Given the description of an element on the screen output the (x, y) to click on. 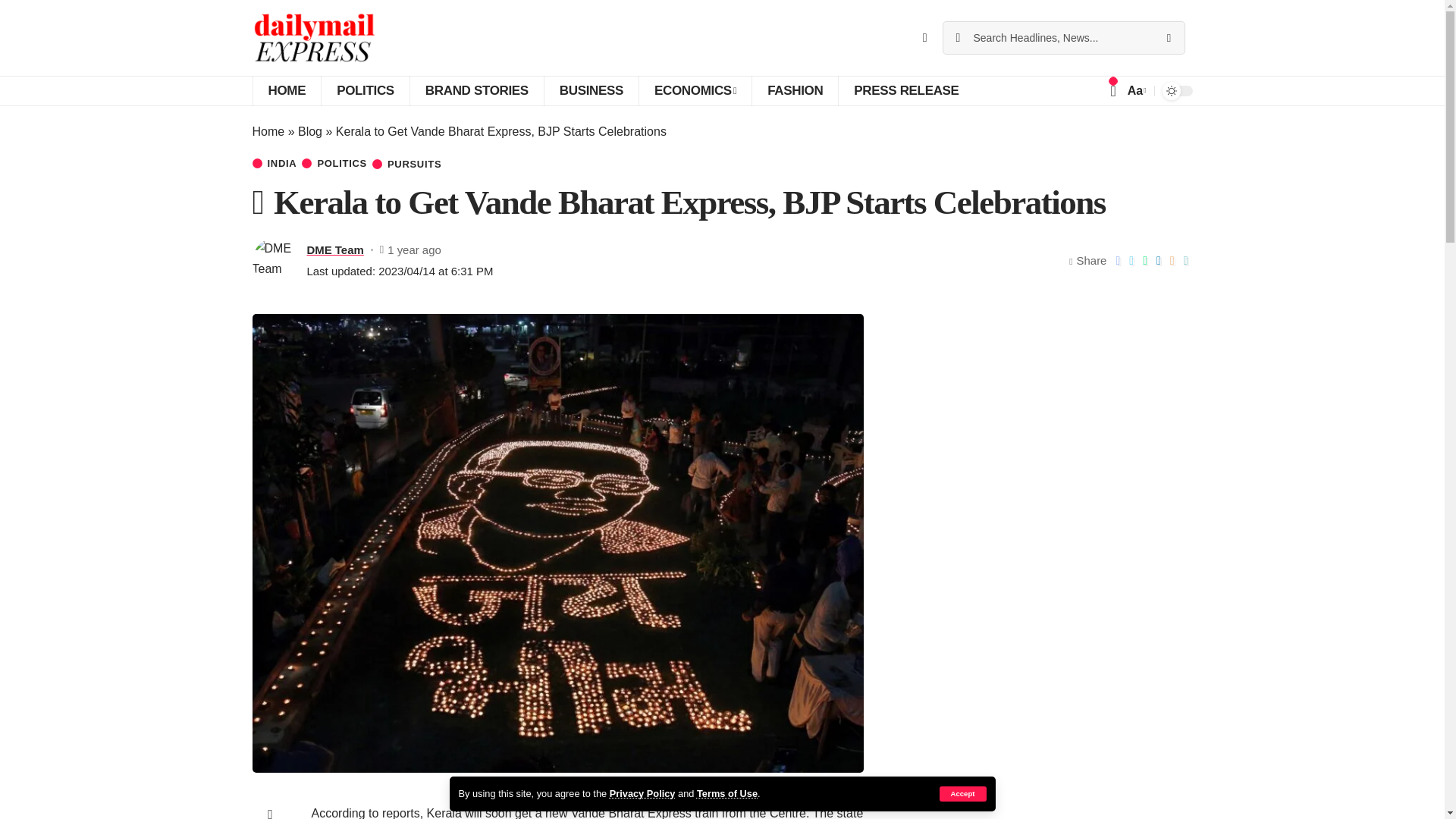
ECONOMICS (695, 91)
HOME (285, 91)
Aa (1135, 90)
FASHION (794, 91)
POLITICS (364, 91)
BUSINESS (591, 91)
Privacy Policy (642, 793)
Daily Mail Express (313, 37)
PRESS RELEASE (906, 91)
Accept (962, 793)
